Given the description of an element on the screen output the (x, y) to click on. 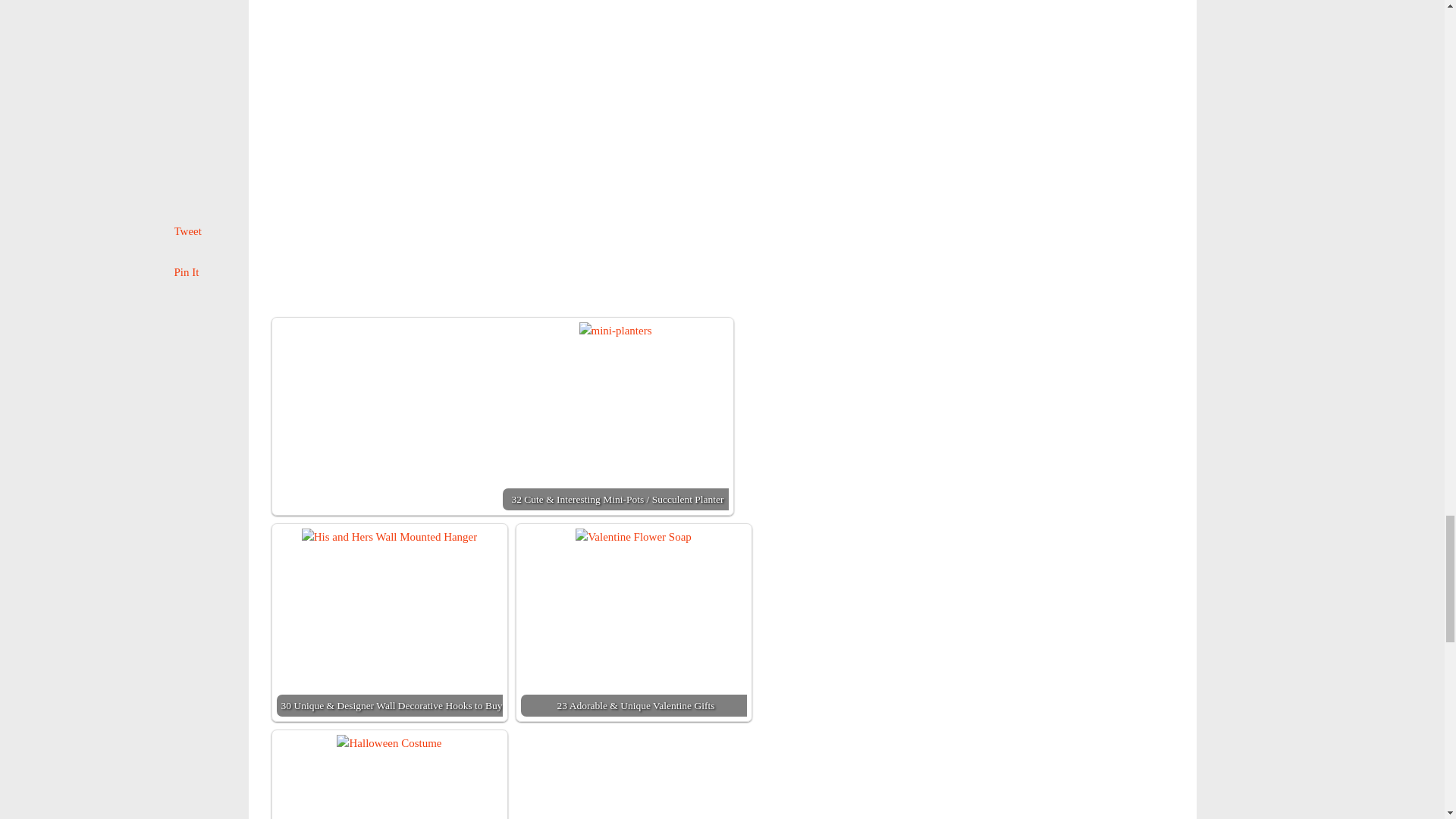
14 Amazing Couple Costumes for Halloween Party (388, 743)
14 Amazing Couple Costumes for Halloween Party (389, 776)
You may also like: (379, 62)
